Given the description of an element on the screen output the (x, y) to click on. 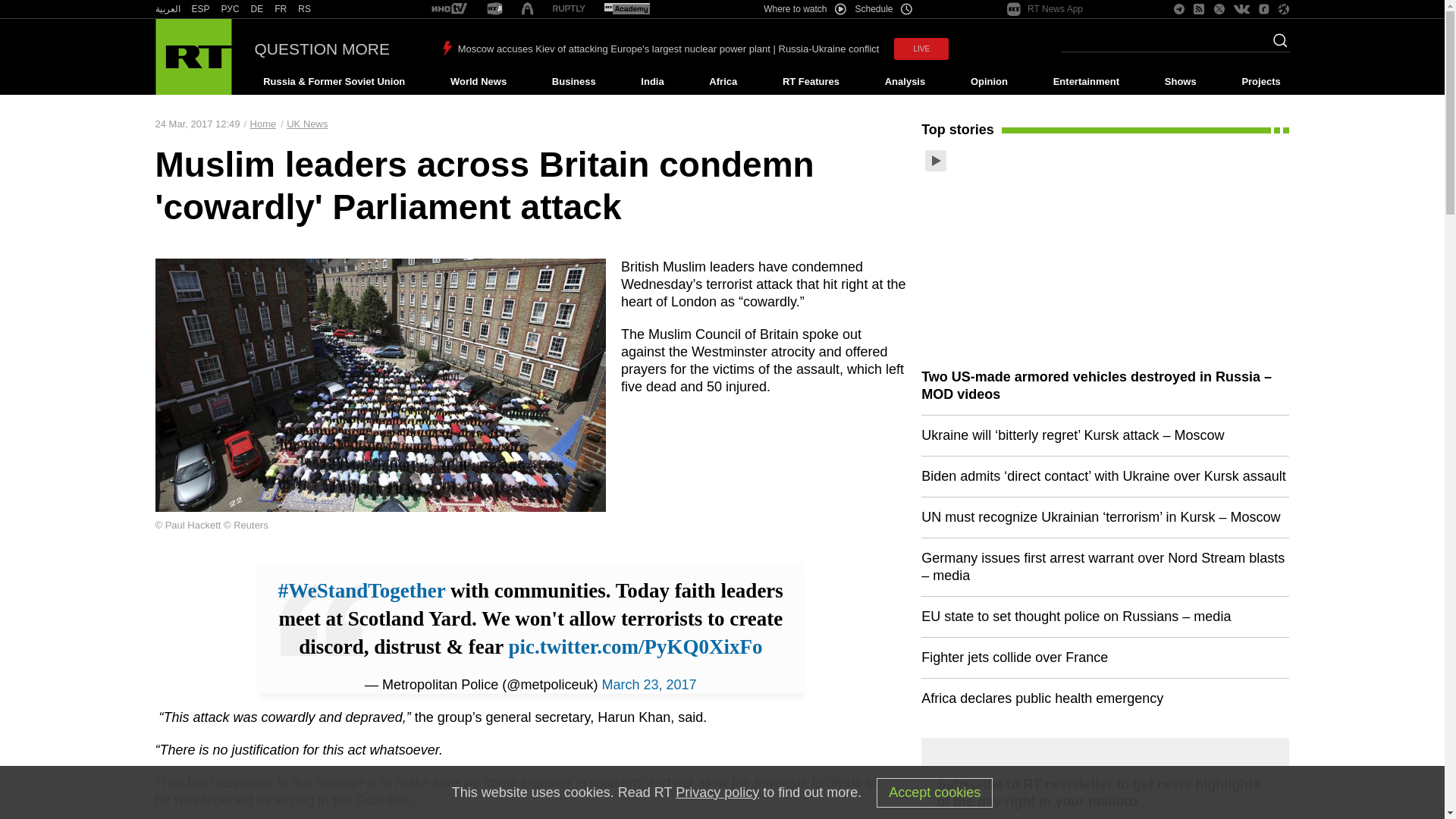
Business (573, 81)
RT  (626, 9)
Shows (1180, 81)
Schedule (884, 9)
RT  (569, 8)
India (651, 81)
RT  (494, 9)
FR (280, 9)
RT  (280, 9)
RT  (448, 9)
